Given the description of an element on the screen output the (x, y) to click on. 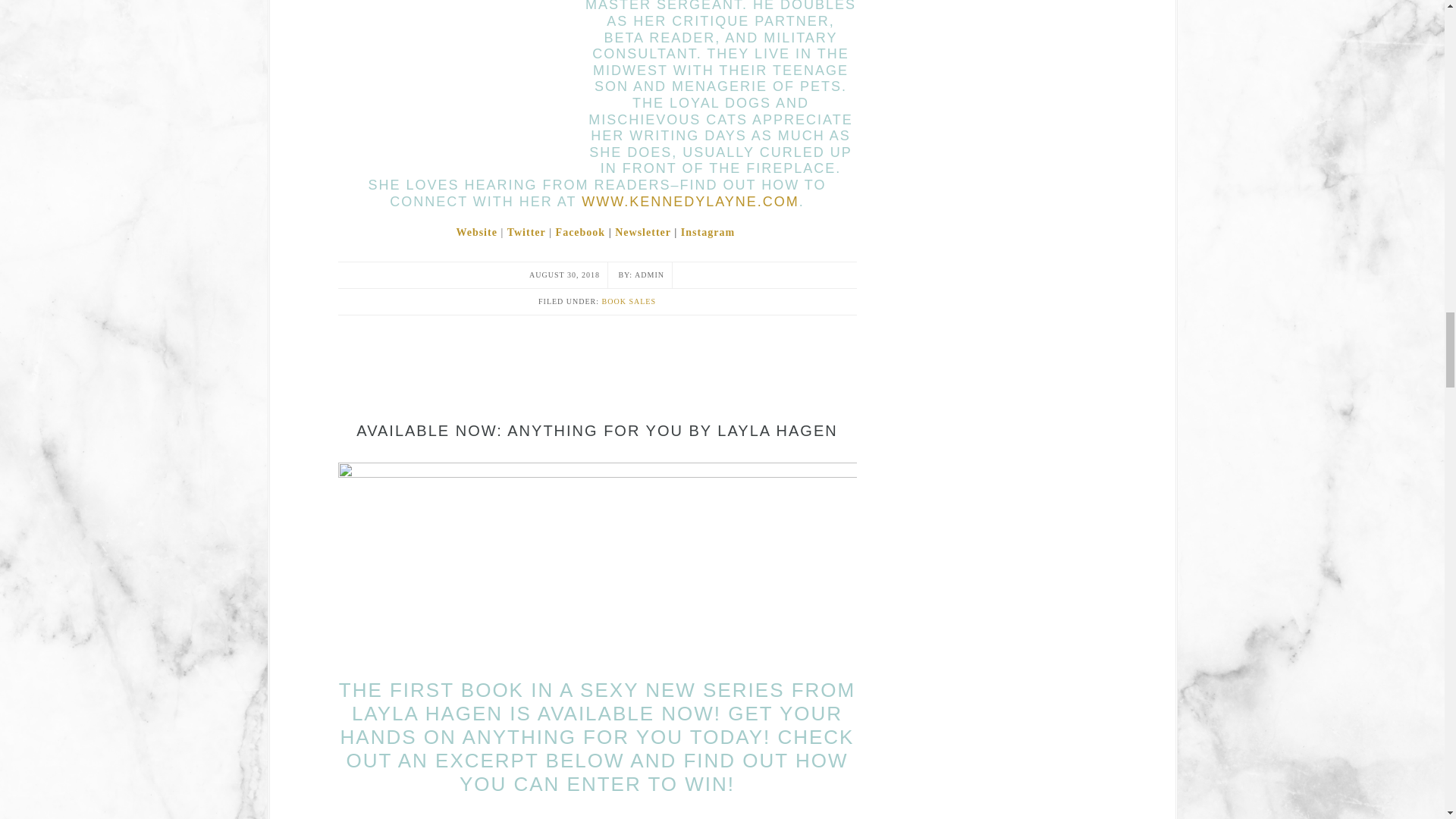
Newsletter (642, 232)
Facebook (580, 232)
WWW.KENNEDYLAYNE.COM (689, 201)
Instagram (708, 232)
Website (475, 232)
Twitter (526, 232)
